Given the description of an element on the screen output the (x, y) to click on. 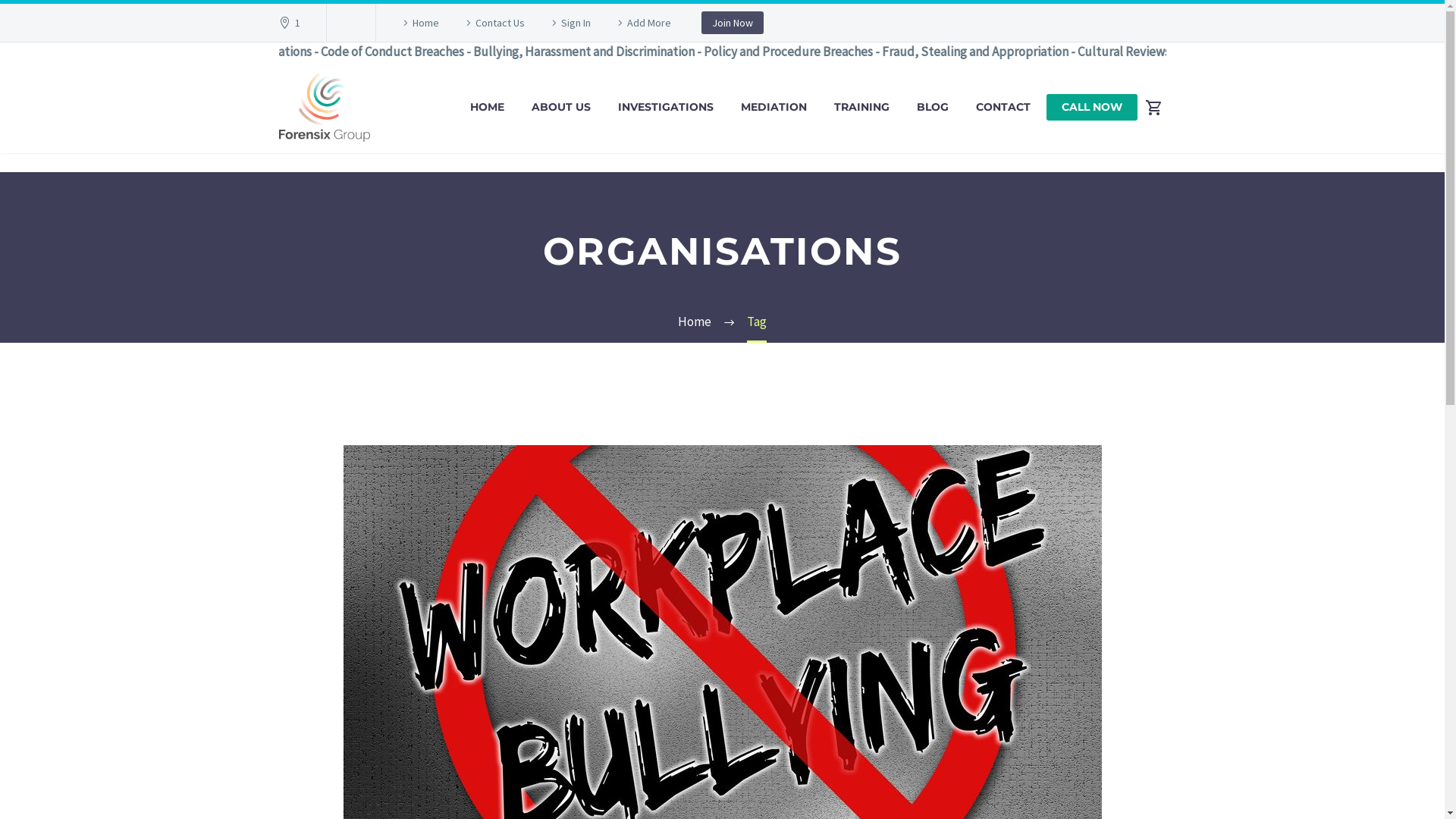
Home Element type: text (418, 22)
Join Now Element type: text (732, 22)
MEDIATION Element type: text (773, 106)
Home Element type: text (694, 321)
Sign In Element type: text (568, 22)
ABOUT US Element type: text (561, 106)
BLOG Element type: text (932, 106)
HOME Element type: text (486, 106)
INVESTIGATIONS Element type: text (665, 106)
Add More Element type: text (642, 22)
CONTACT Element type: text (1002, 106)
CALL NOW Element type: text (1091, 107)
Contact Us Element type: text (492, 22)
TRAINING Element type: text (861, 106)
